Given the description of an element on the screen output the (x, y) to click on. 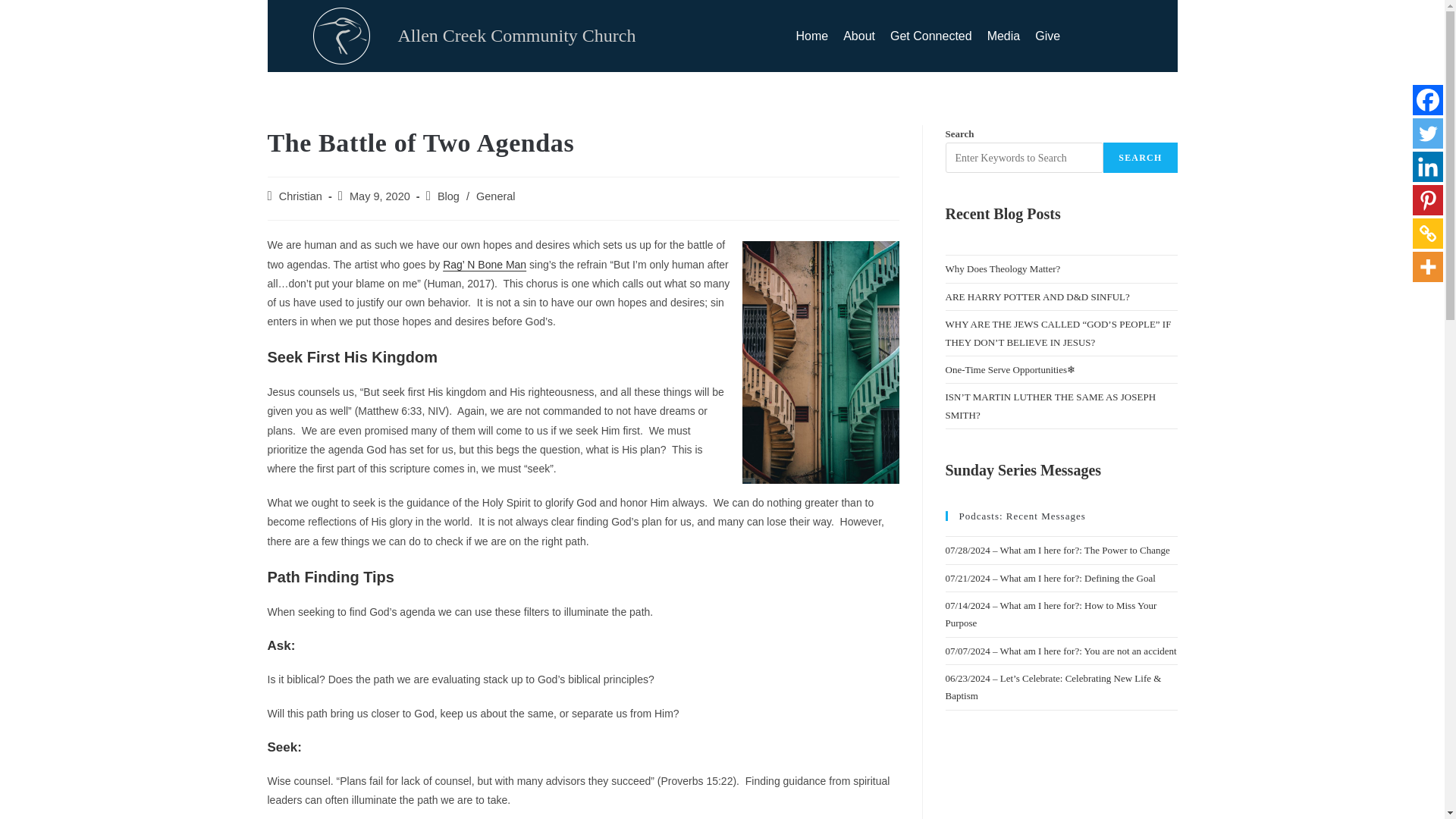
Give (1047, 35)
More (1427, 266)
Allen Creek Community Church (515, 35)
Facebook (1427, 100)
Twitter (1427, 132)
About (858, 35)
Home (812, 35)
Posts by Christian (300, 196)
Linkedin (1427, 166)
Media (1003, 35)
Pinterest (1427, 200)
Copy Link (1427, 233)
Get Connected (930, 35)
